Given the description of an element on the screen output the (x, y) to click on. 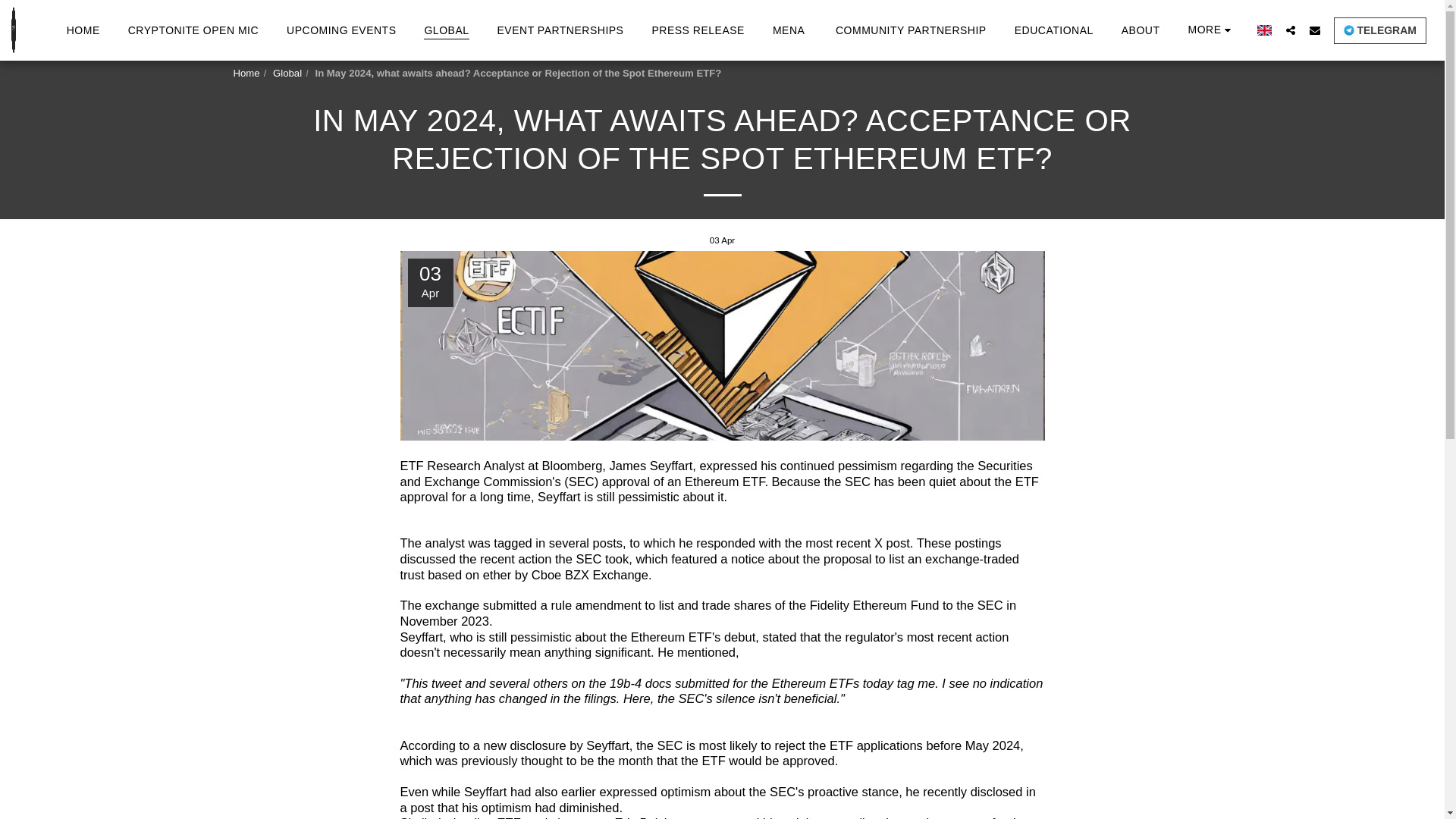
GLOBAL (446, 29)
Home (246, 72)
MENA  (789, 29)
HOME (83, 29)
EVENT PARTNERSHIPS (560, 29)
MORE   (1210, 29)
CRYPTONITE OPEN MIC (193, 29)
PRESS RELEASE (697, 29)
